Given the description of an element on the screen output the (x, y) to click on. 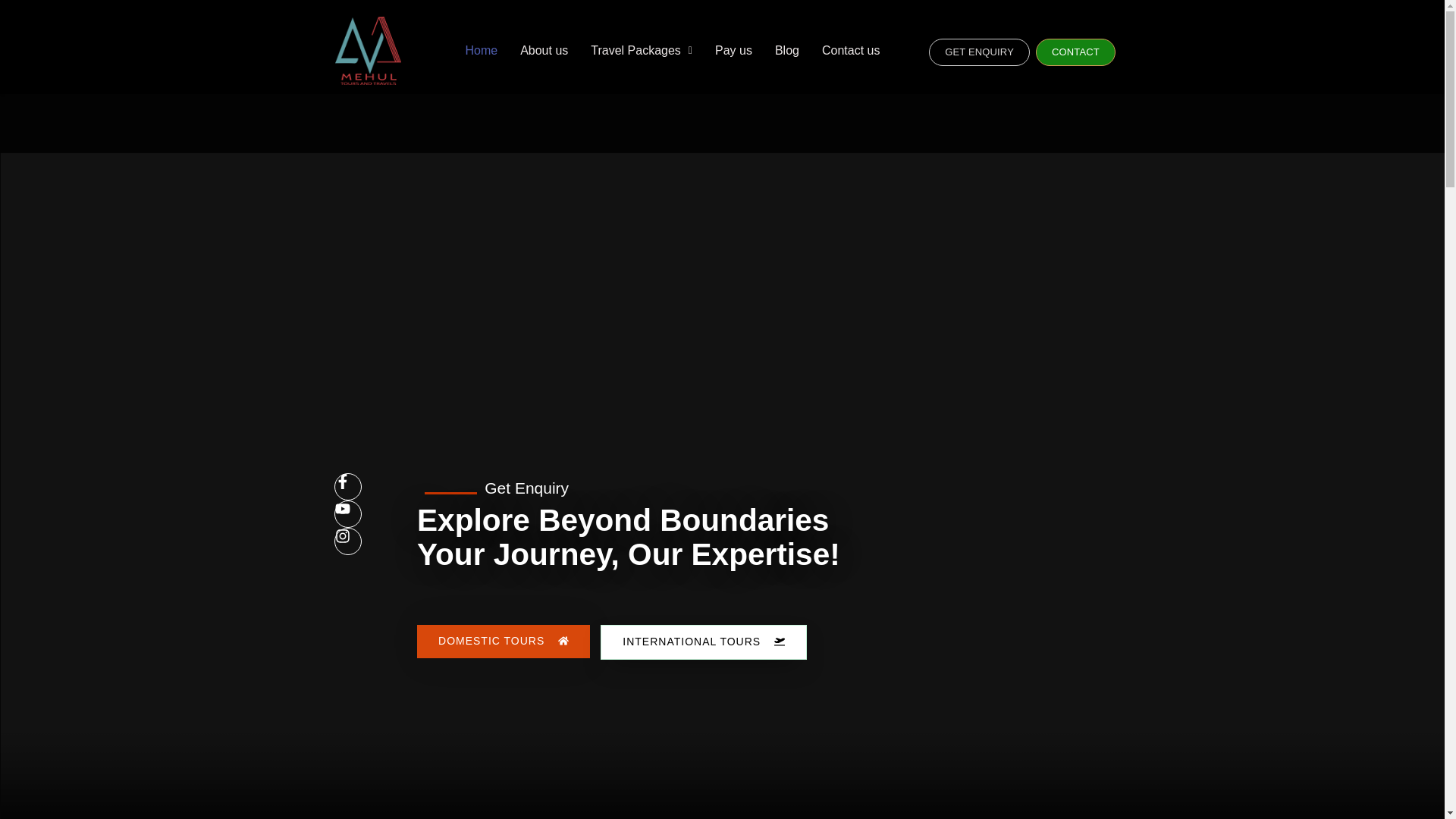
Contact us (850, 50)
INTERNATIONAL TOURS (702, 642)
Blog (786, 50)
Home (480, 50)
CONTACT (1075, 52)
DOMESTIC TOURS (502, 641)
About us (543, 50)
Pay us (732, 50)
GET ENQUIRY (978, 52)
Travel Packages (641, 50)
